Given the description of an element on the screen output the (x, y) to click on. 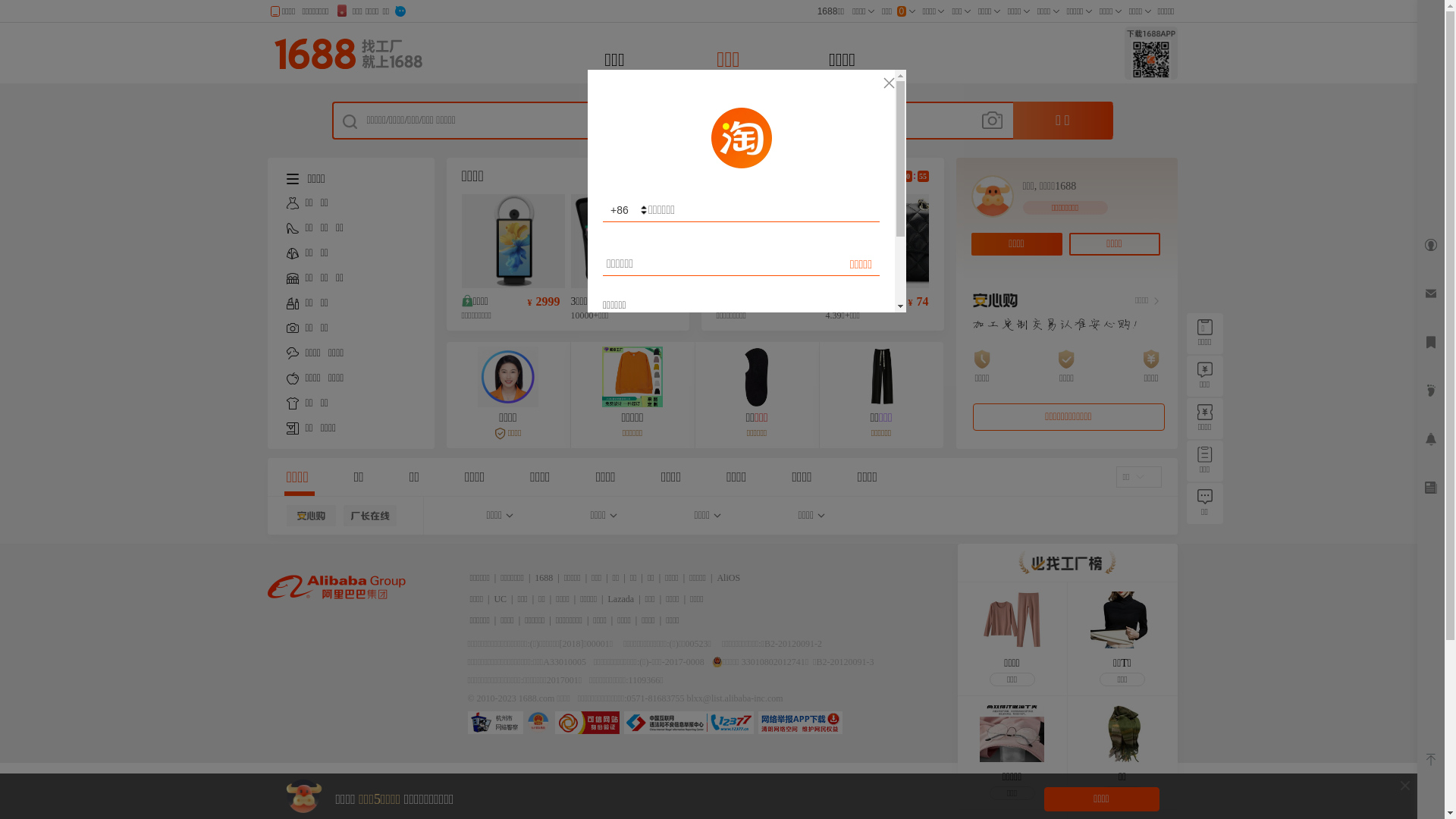
1688 Element type: text (543, 577)
UC Element type: text (499, 598)
Lazada Element type: text (621, 598)
AliOS Element type: text (728, 577)
